Given the description of an element on the screen output the (x, y) to click on. 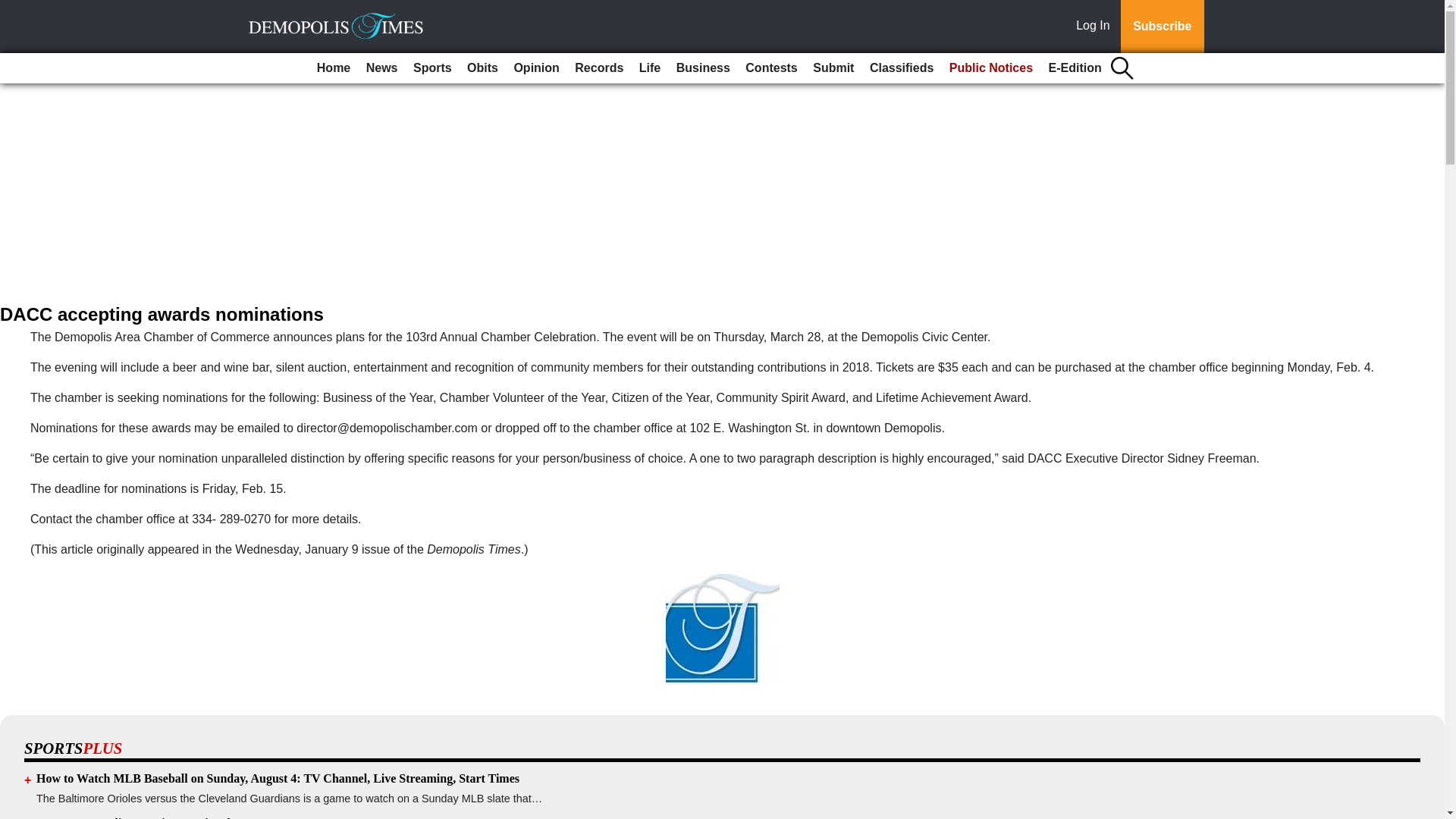
Classifieds (901, 68)
Home (333, 68)
Business (702, 68)
News (381, 68)
Obits (482, 68)
Log In (1095, 26)
Records (598, 68)
Submit (833, 68)
E-Edition (1075, 68)
Opinion (535, 68)
Contests (771, 68)
Sports (432, 68)
Public Notices (991, 68)
